Given the description of an element on the screen output the (x, y) to click on. 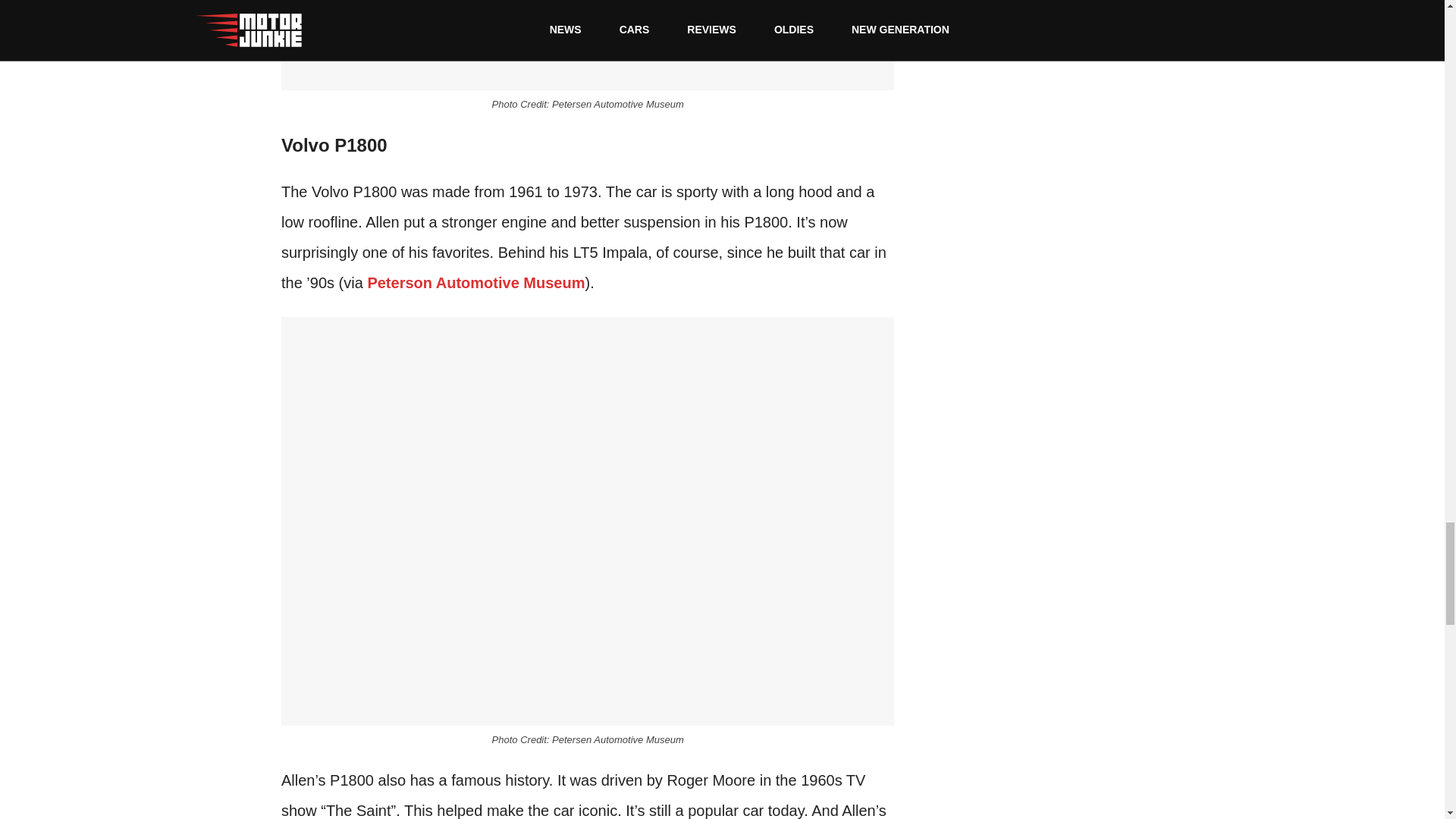
Peterson Automotive Museum (475, 282)
